Given the description of an element on the screen output the (x, y) to click on. 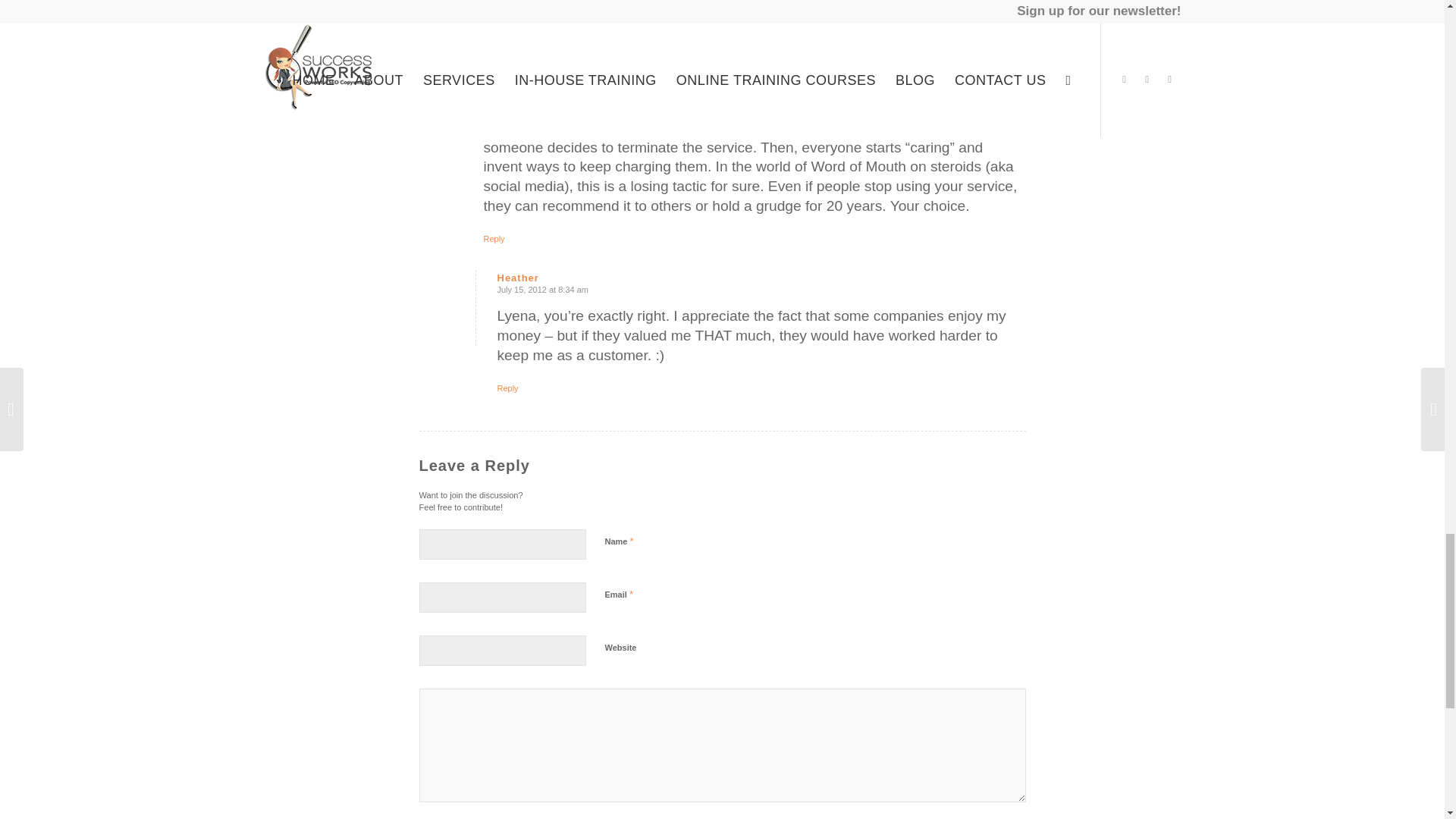
Heather (517, 277)
Lyena Solomon (524, 70)
Reply (494, 238)
July 12, 2012 at 9:24 am (529, 81)
Reply (507, 388)
July 15, 2012 at 8:34 am (542, 289)
